Given the description of an element on the screen output the (x, y) to click on. 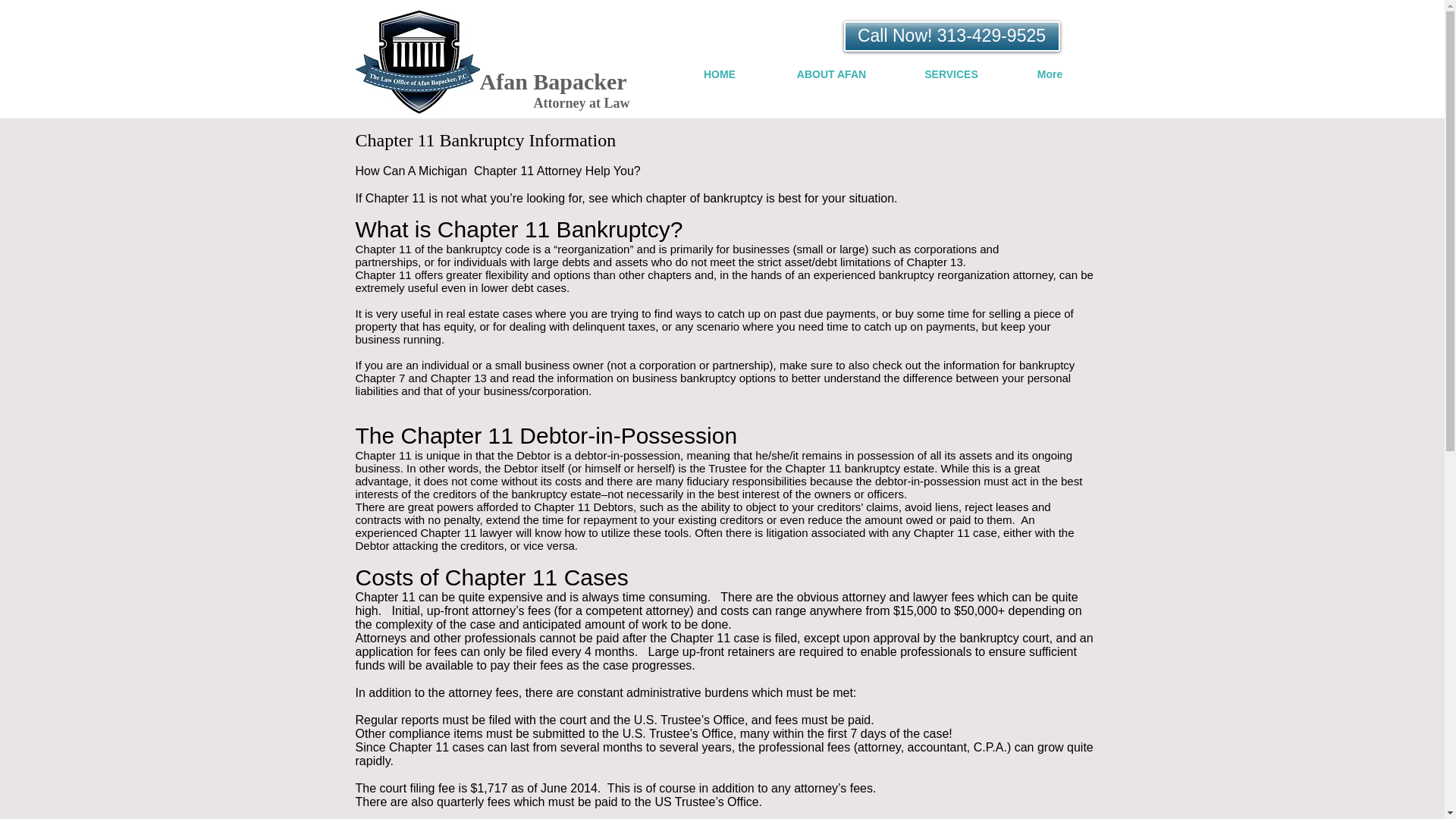
ABOUT AFAN (830, 74)
SERVICES (951, 74)
HOME (719, 74)
